Given the description of an element on the screen output the (x, y) to click on. 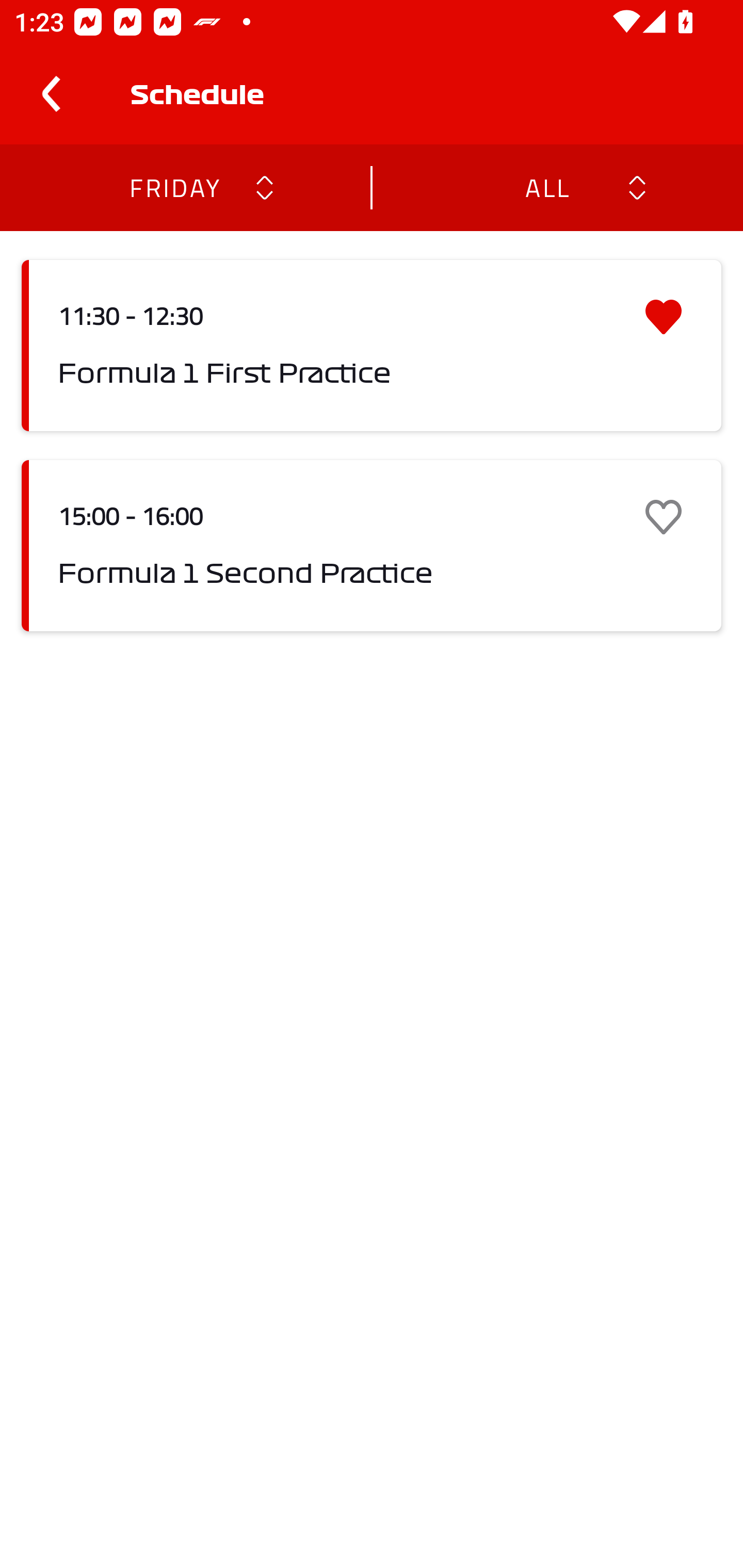
Navigate up (50, 93)
FRIDAY (174, 187)
ALL (546, 187)
11:30 - 12:30 Formula 1 First Practice (371, 345)
15:00 - 16:00 Formula 1 Second Practice (371, 545)
